Given the description of an element on the screen output the (x, y) to click on. 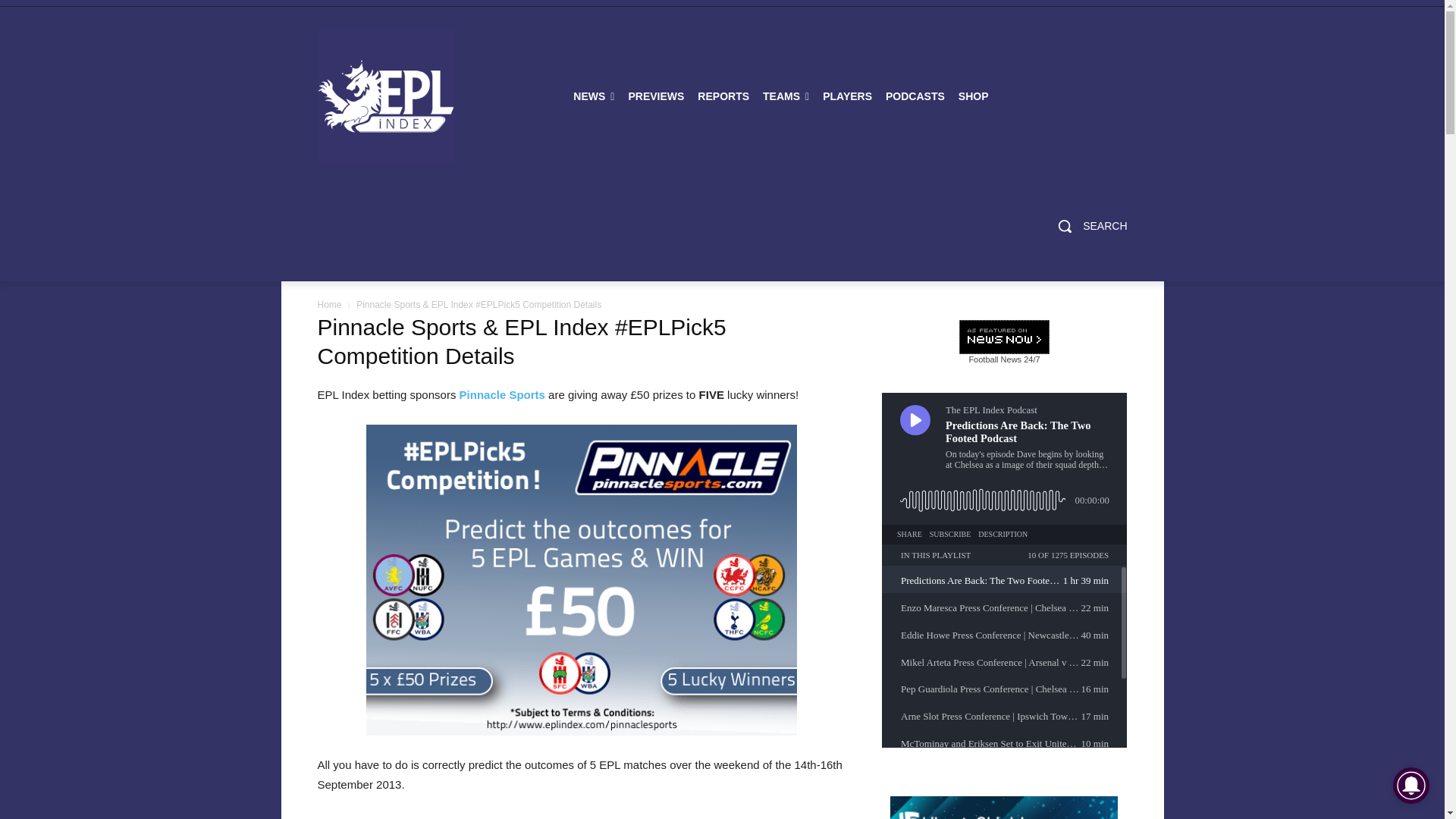
Home (328, 304)
Pinnacle Sports (502, 394)
NEWS (593, 95)
Click here for more Football news from NewsNow (1004, 341)
EPL Match Previews (655, 95)
PLAYERS (847, 95)
EPL Index Player Profiles (847, 95)
EPL Index (384, 95)
REPORTS (722, 95)
TEAMS (785, 95)
